Given the description of an element on the screen output the (x, y) to click on. 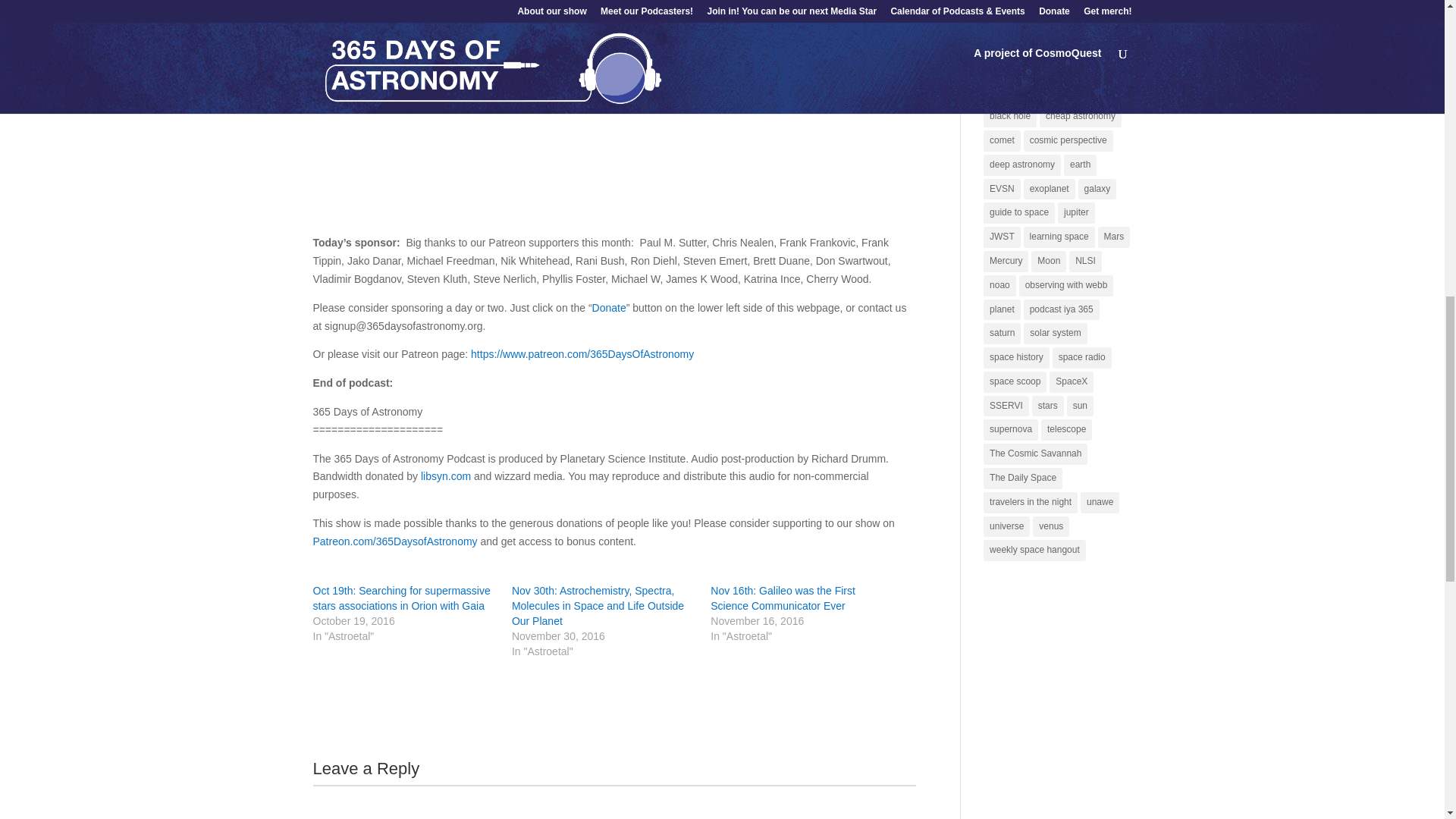
Nov 16th: Galileo was the First Science Communicator Ever (783, 597)
Actual Astronomy (1024, 3)
libsyn.com (445, 476)
Comment Form (614, 801)
Nov 16th: Galileo was the First Science Communicator Ever (783, 597)
Donate (609, 307)
